Given the description of an element on the screen output the (x, y) to click on. 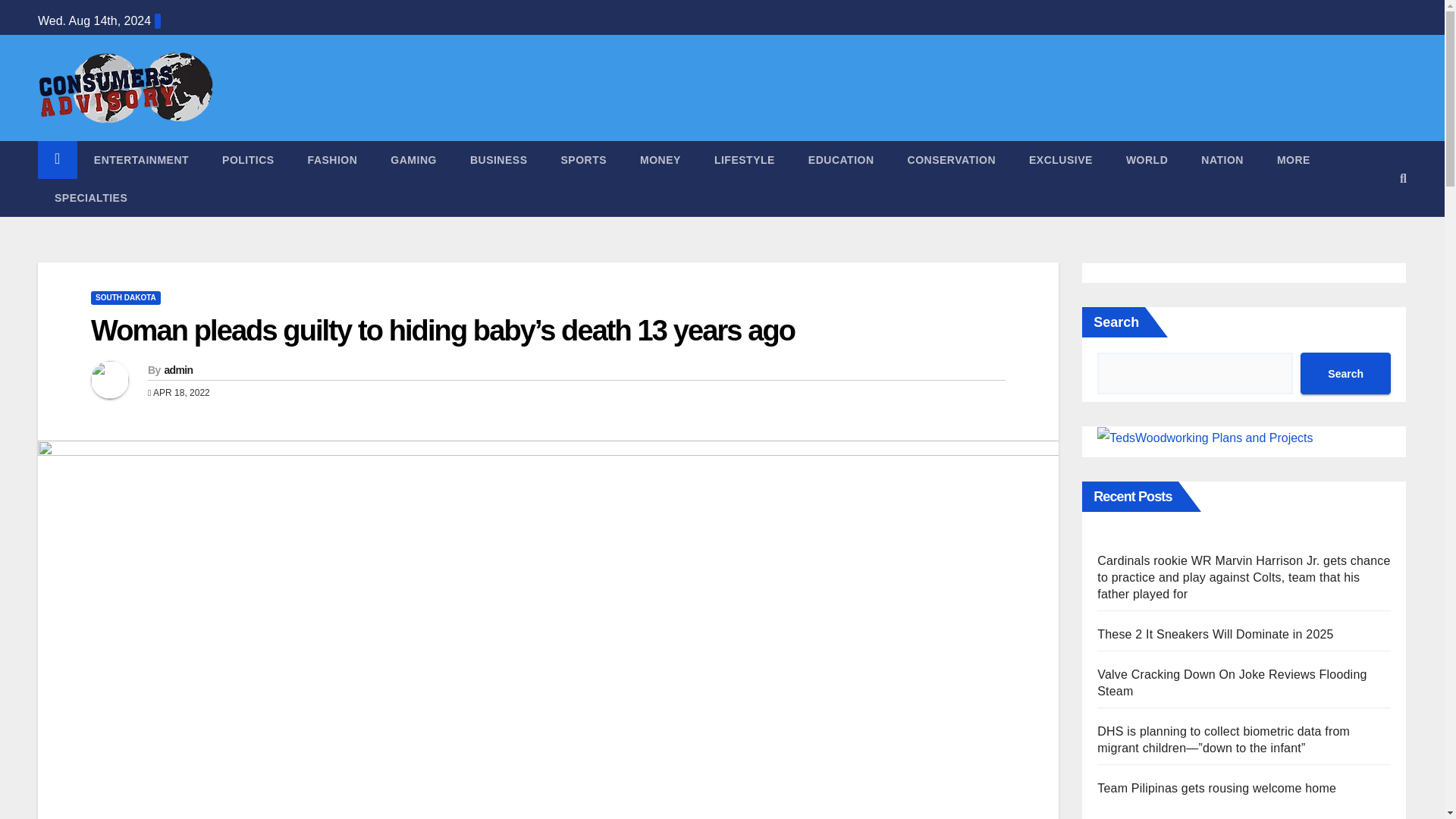
ENTERTAINMENT (141, 159)
CONSERVATION (951, 159)
Fashion (332, 159)
POLITICS (248, 159)
MONEY (660, 159)
EDUCATION (841, 159)
Education (841, 159)
GAMING (413, 159)
Lifestyle (744, 159)
NATION (1222, 159)
